Given the description of an element on the screen output the (x, y) to click on. 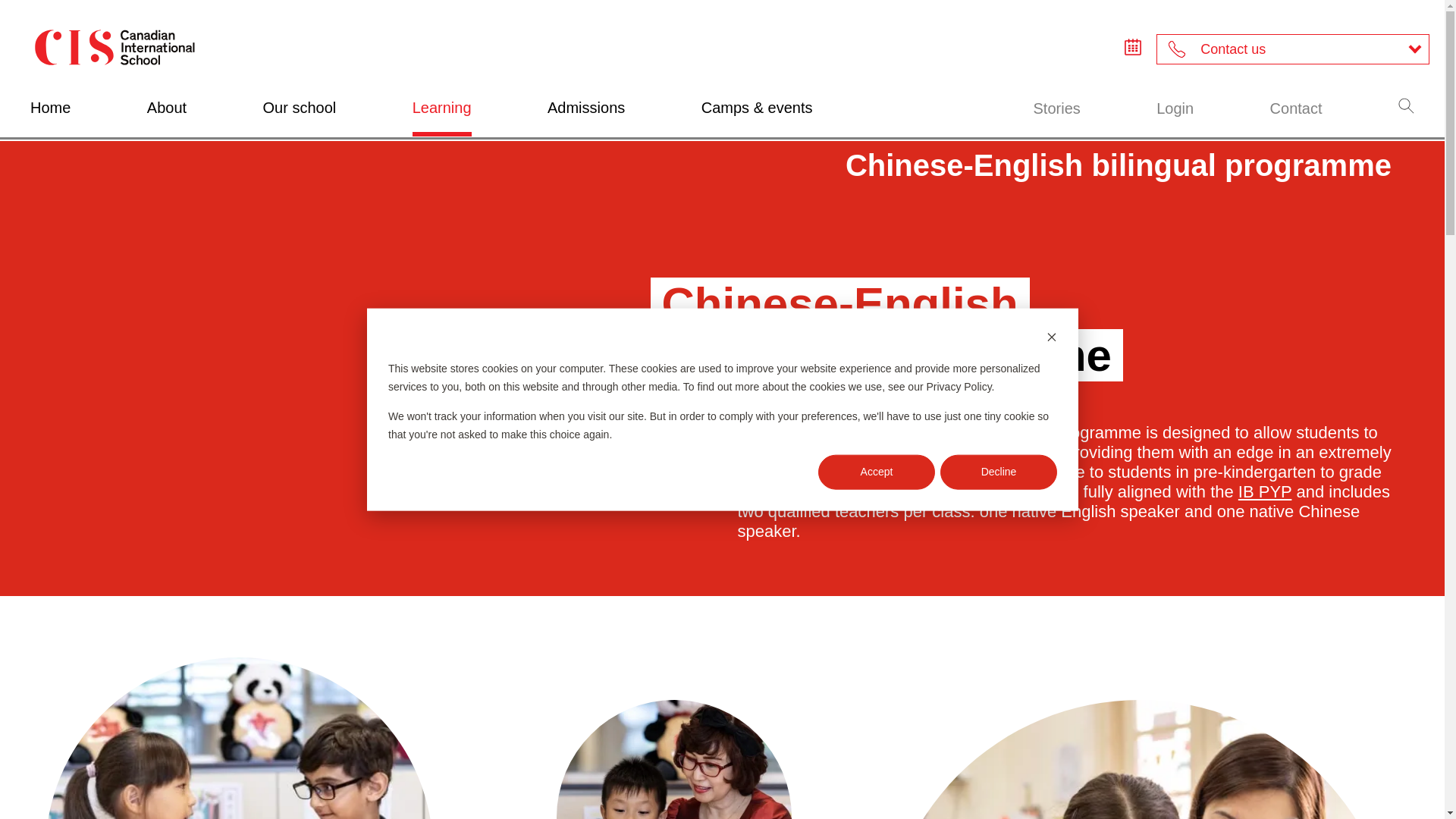
Home (114, 48)
Contact us (1292, 49)
Home (49, 117)
About (166, 117)
Learning (441, 117)
Our school (299, 117)
Home (49, 117)
